Given the description of an element on the screen output the (x, y) to click on. 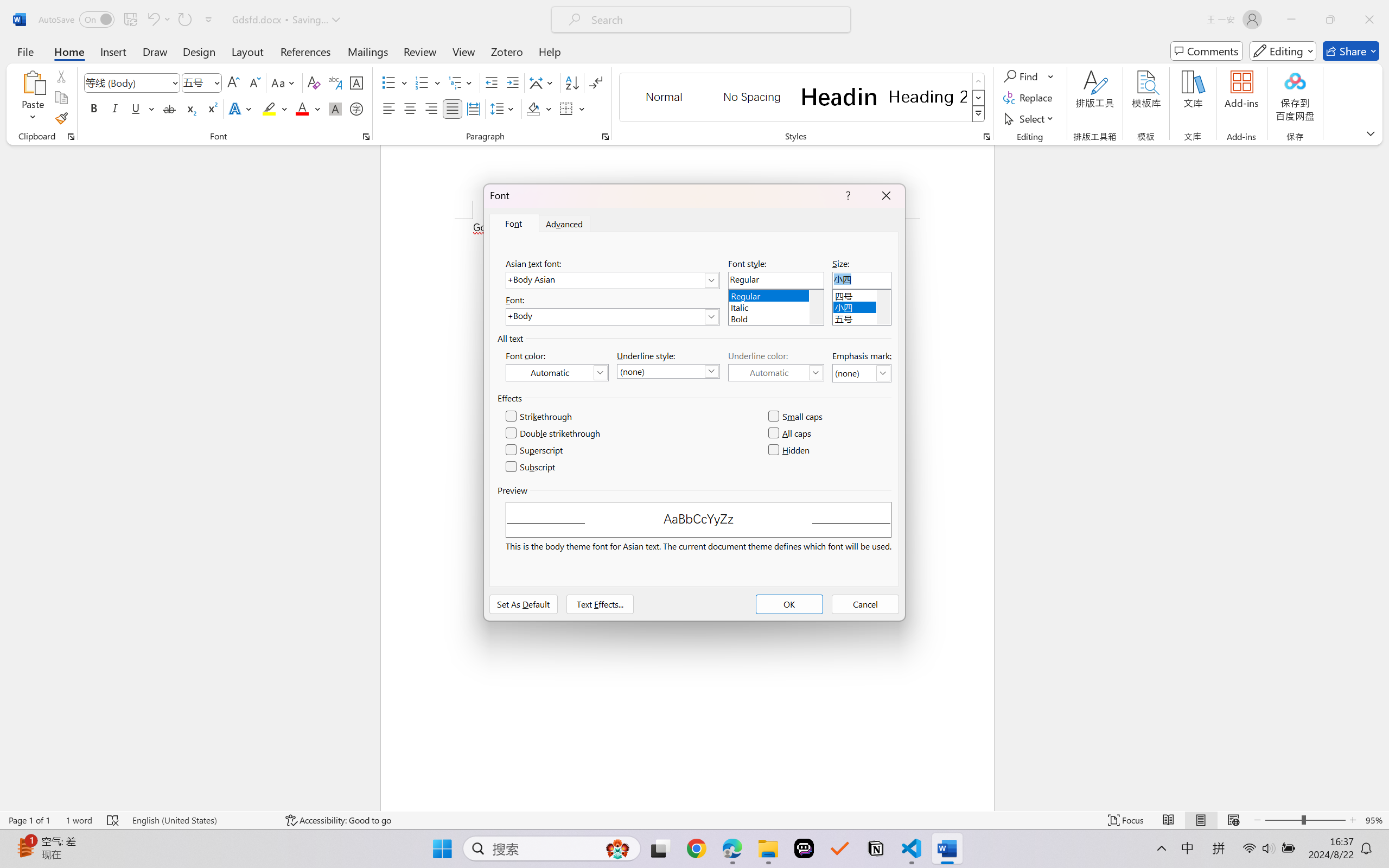
Size: (861, 280)
Center (409, 108)
Underline style: (667, 370)
Replace... (1029, 97)
All caps (790, 433)
